Given the description of an element on the screen output the (x, y) to click on. 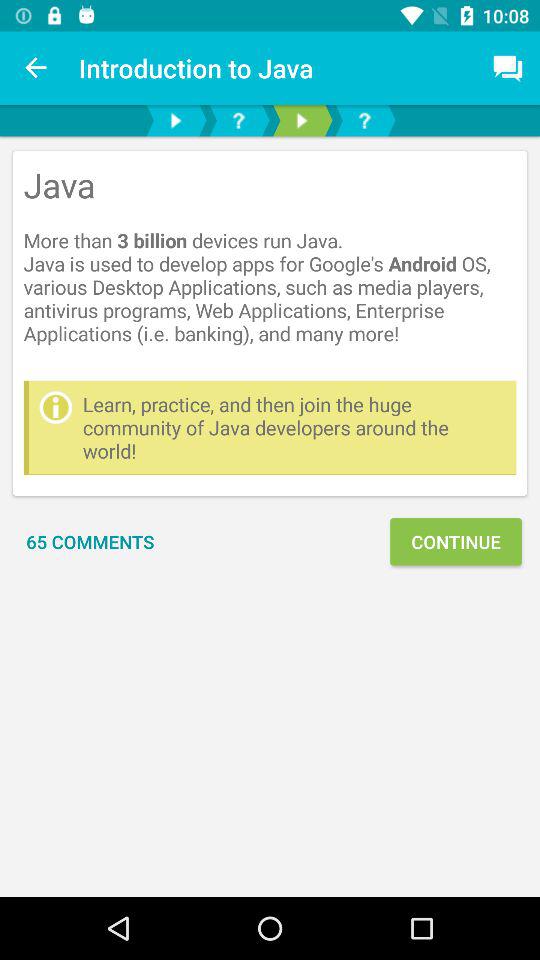
request help (364, 120)
